Given the description of an element on the screen output the (x, y) to click on. 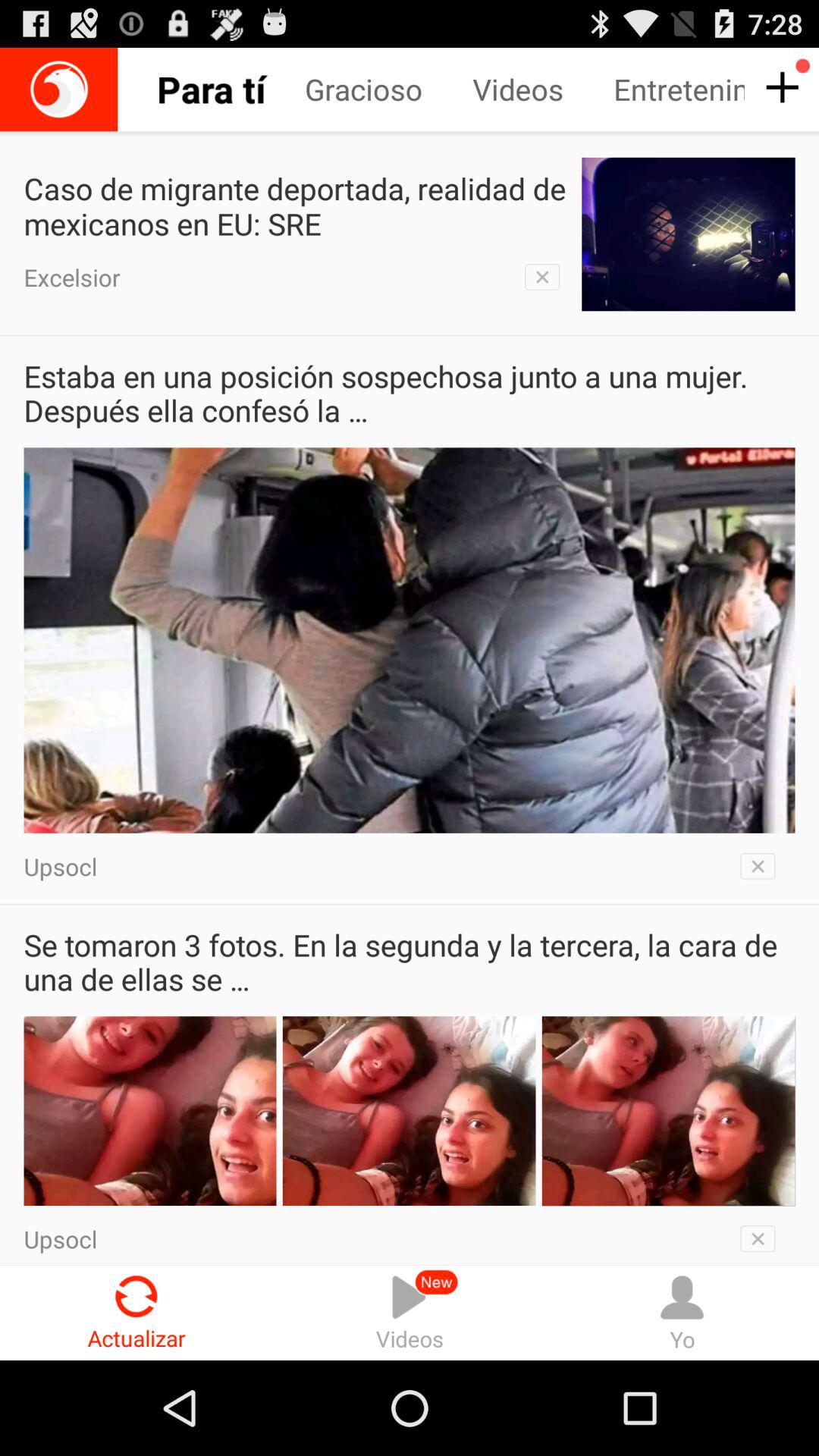
open the yo icon (682, 1312)
